Given the description of an element on the screen output the (x, y) to click on. 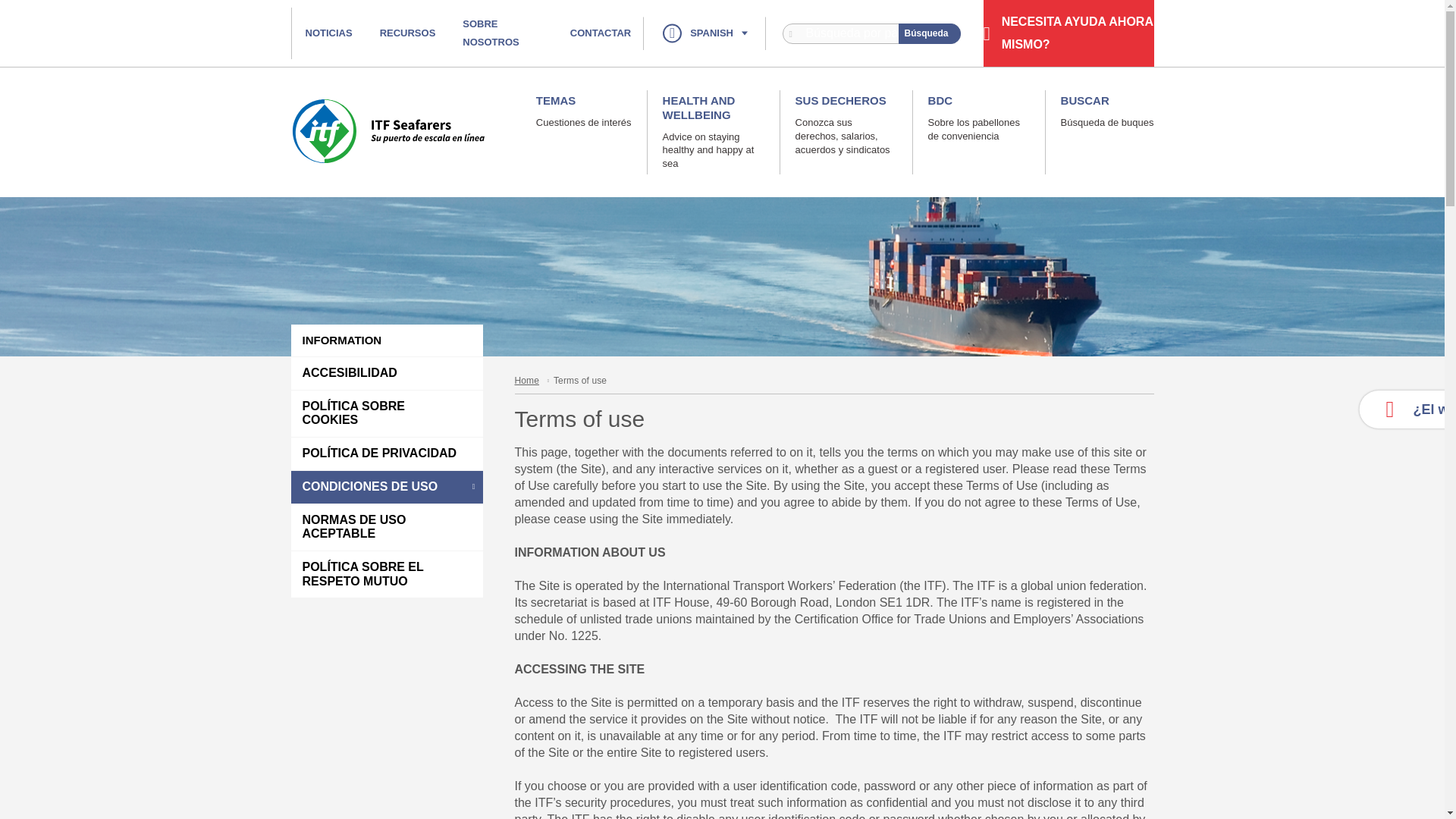
SOBRE NOSOTROS (502, 32)
BUSCAR (1107, 111)
NOTICIAS (328, 32)
Full graphics version (56, 6)
NORMAS DE USO ACEPTABLE (387, 526)
Advice on staying healthy and happy at sea (713, 132)
Conozca sus derechos, salarios, acuerdos y sindicatos (845, 125)
SUS DECHEROS (845, 125)
ACCESIBILIDAD (387, 372)
RECURSOS (407, 32)
NECESITA AYUDA AHORA MISMO? (1067, 33)
CONDICIONES DE USO (387, 486)
CONTACTAR (600, 32)
Sobre los pabellones de conveniencia (978, 118)
